Given the description of an element on the screen output the (x, y) to click on. 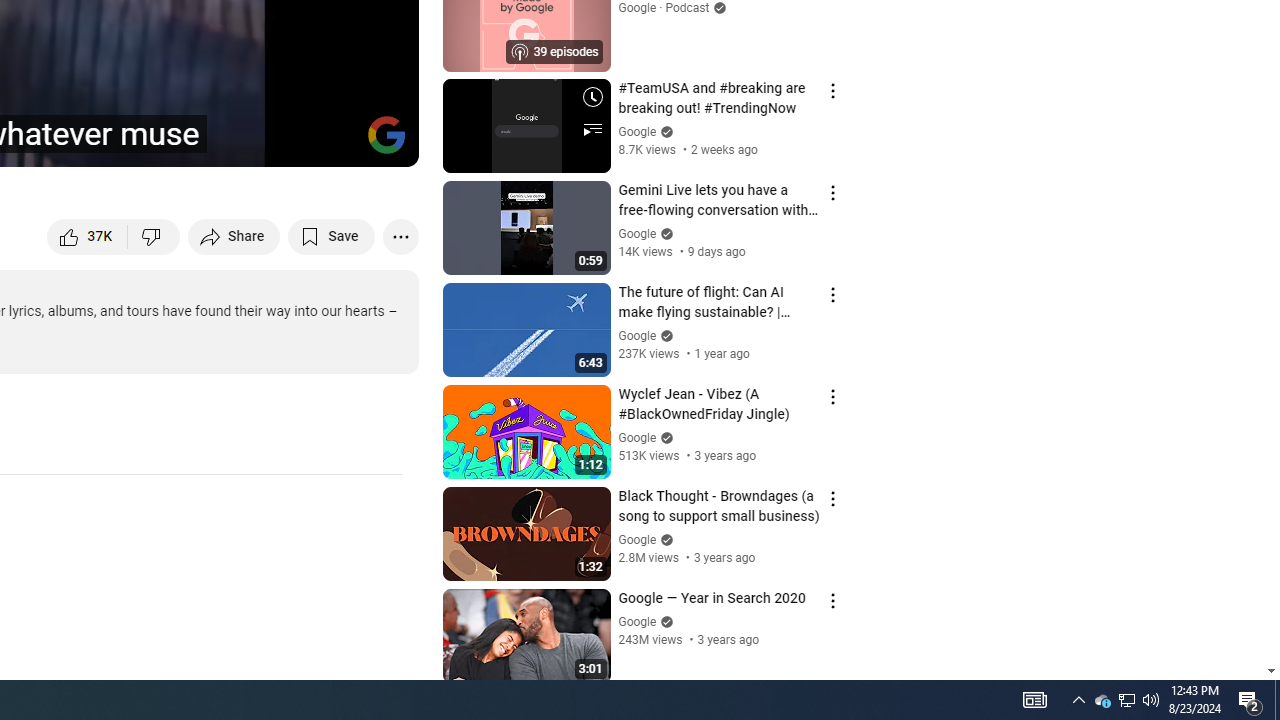
Theater mode (t) (333, 142)
Save to playlist (331, 236)
Miniplayer (i) (286, 142)
Share (234, 236)
Channel watermark (386, 134)
More actions (399, 236)
like this video along with 37,258 other people (88, 236)
Dislike this video (154, 236)
